Given the description of an element on the screen output the (x, y) to click on. 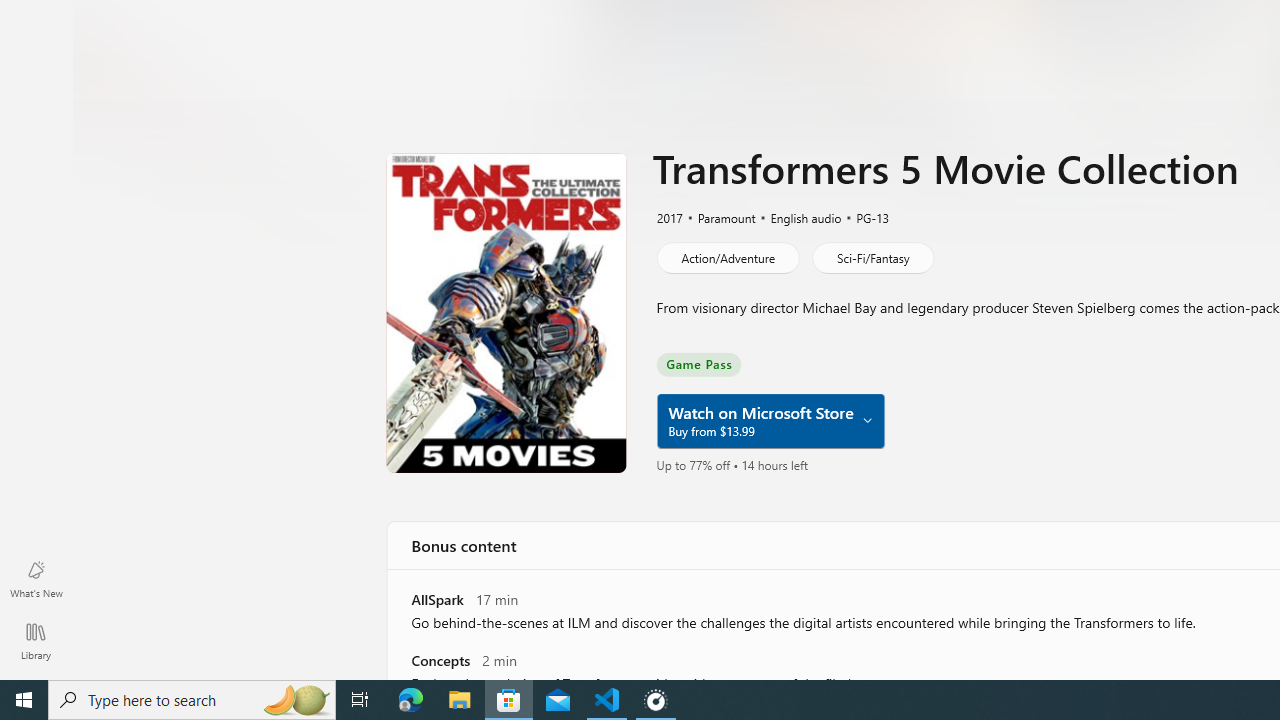
Action/Adventure (726, 257)
2017 (667, 217)
Sci-Fi/Fantasy (872, 257)
PG-13 (863, 217)
Paramount (717, 217)
English audio (797, 217)
Watch on Microsoft Store Buy from $13.99 (769, 421)
